Given the description of an element on the screen output the (x, y) to click on. 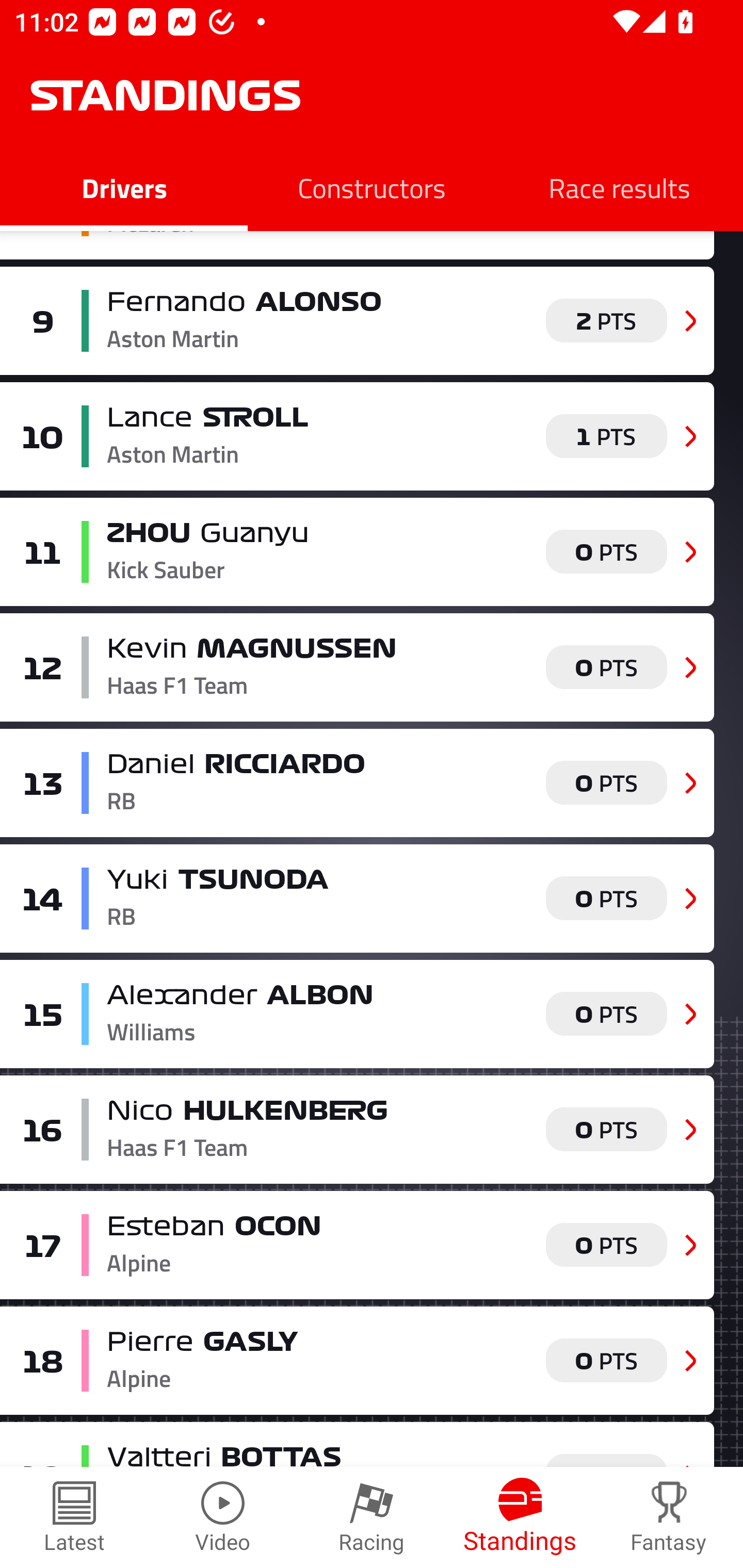
Constructors (371, 187)
Race results (619, 187)
9 Fernando ALONSO Aston Martin 2 PTS (357, 320)
10 Lance STROLL Aston Martin 1 PTS (357, 436)
11 ZHOU Guanyu Kick Sauber 0 PTS (357, 551)
12 Kevin MAGNUSSEN Haas F1 Team 0 PTS (357, 667)
13 Daniel RICCIARDO RB 0 PTS (357, 783)
14 Yuki TSUNODA RB 0 PTS (357, 898)
15 Alexander ALBON Williams 0 PTS (357, 1013)
16 Nico HULKENBERG Haas F1 Team 0 PTS (357, 1129)
17 Esteban OCON Alpine 0 PTS (357, 1245)
18 Pierre GASLY Alpine 0 PTS (357, 1360)
Latest (74, 1517)
Video (222, 1517)
Racing (371, 1517)
Fantasy (668, 1517)
